Given the description of an element on the screen output the (x, y) to click on. 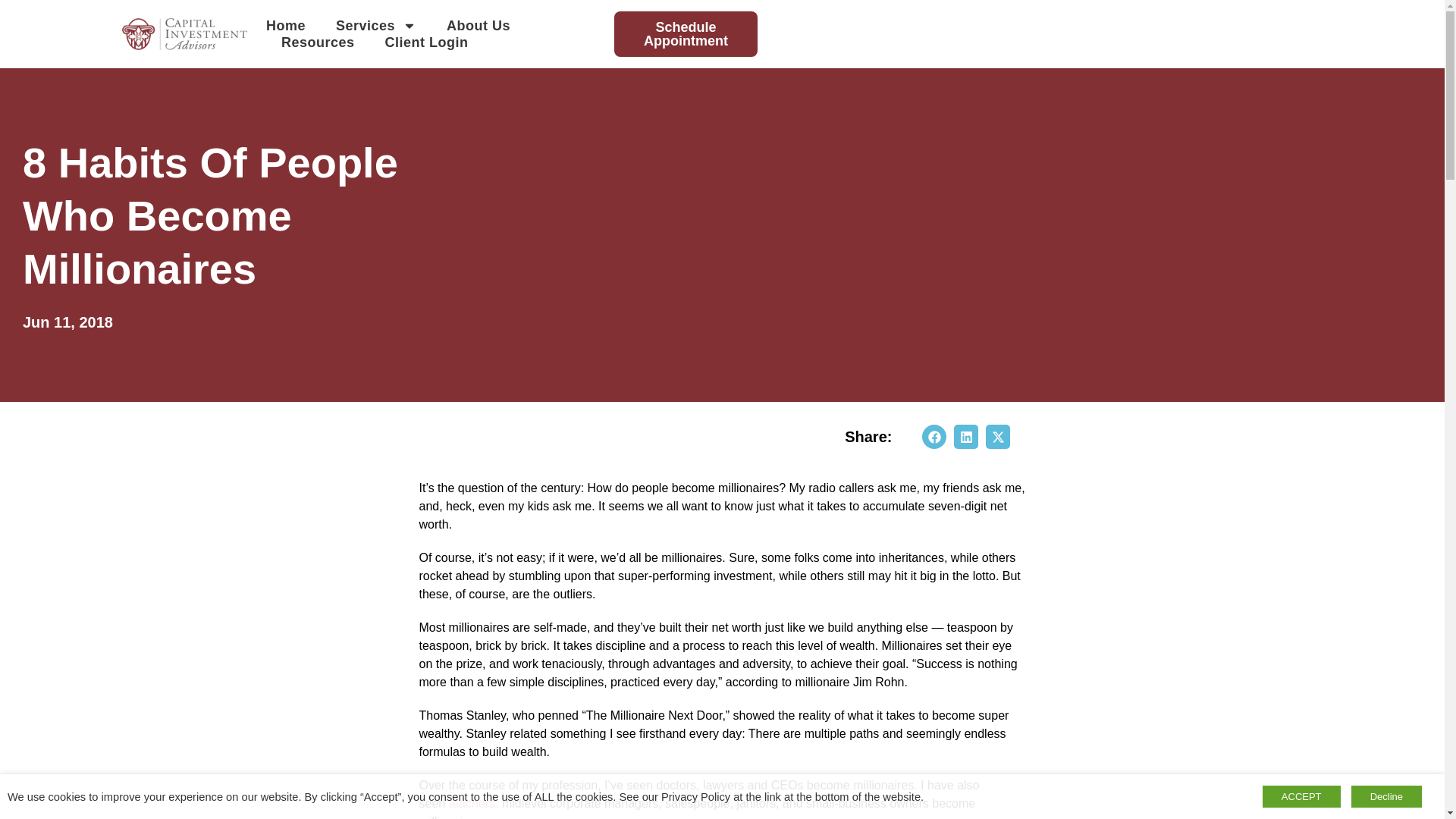
Services (376, 25)
About Us (478, 25)
Resources (318, 42)
Schedule Appointment (685, 33)
Client Login (426, 42)
Home (285, 25)
